Given the description of an element on the screen output the (x, y) to click on. 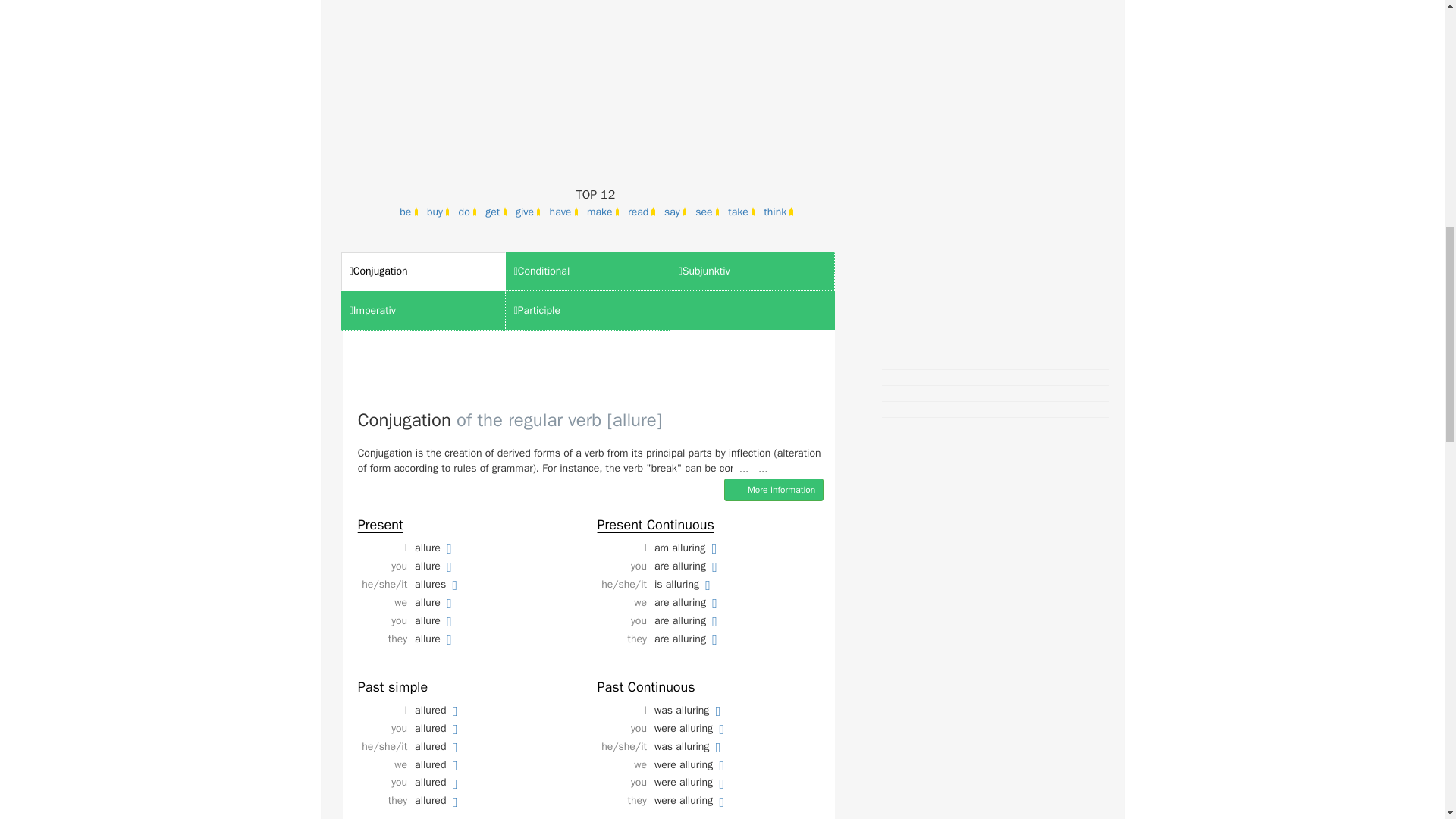
make   (602, 213)
think   (777, 213)
see   (705, 213)
Advertisement (995, 169)
say   (674, 213)
Present (380, 524)
do   (466, 213)
Advertisement (597, 80)
take   (740, 213)
be   (408, 213)
read   (641, 213)
get   (494, 213)
buy   (437, 213)
give   (526, 213)
have   (562, 213)
